Given the description of an element on the screen output the (x, y) to click on. 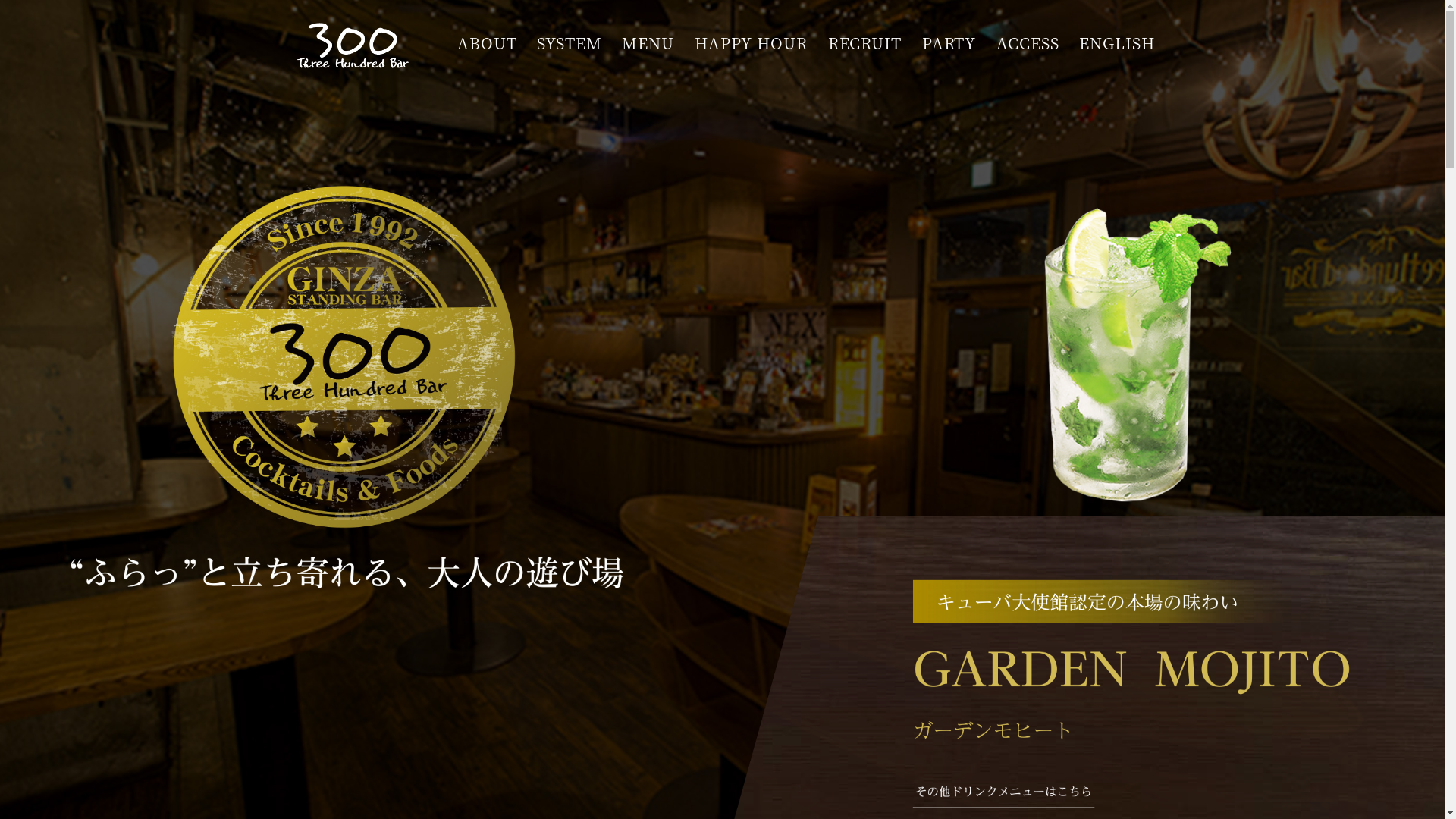
PARTY Element type: text (949, 43)
SYSTEM Element type: text (568, 43)
HAPPY HOUR Element type: text (750, 43)
ACCESS Element type: text (1027, 43)
MENU Element type: text (647, 43)
RECRUIT Element type: text (864, 43)
ENGLISH Element type: text (1116, 43)
ABOUT Element type: text (487, 43)
